Given the description of an element on the screen output the (x, y) to click on. 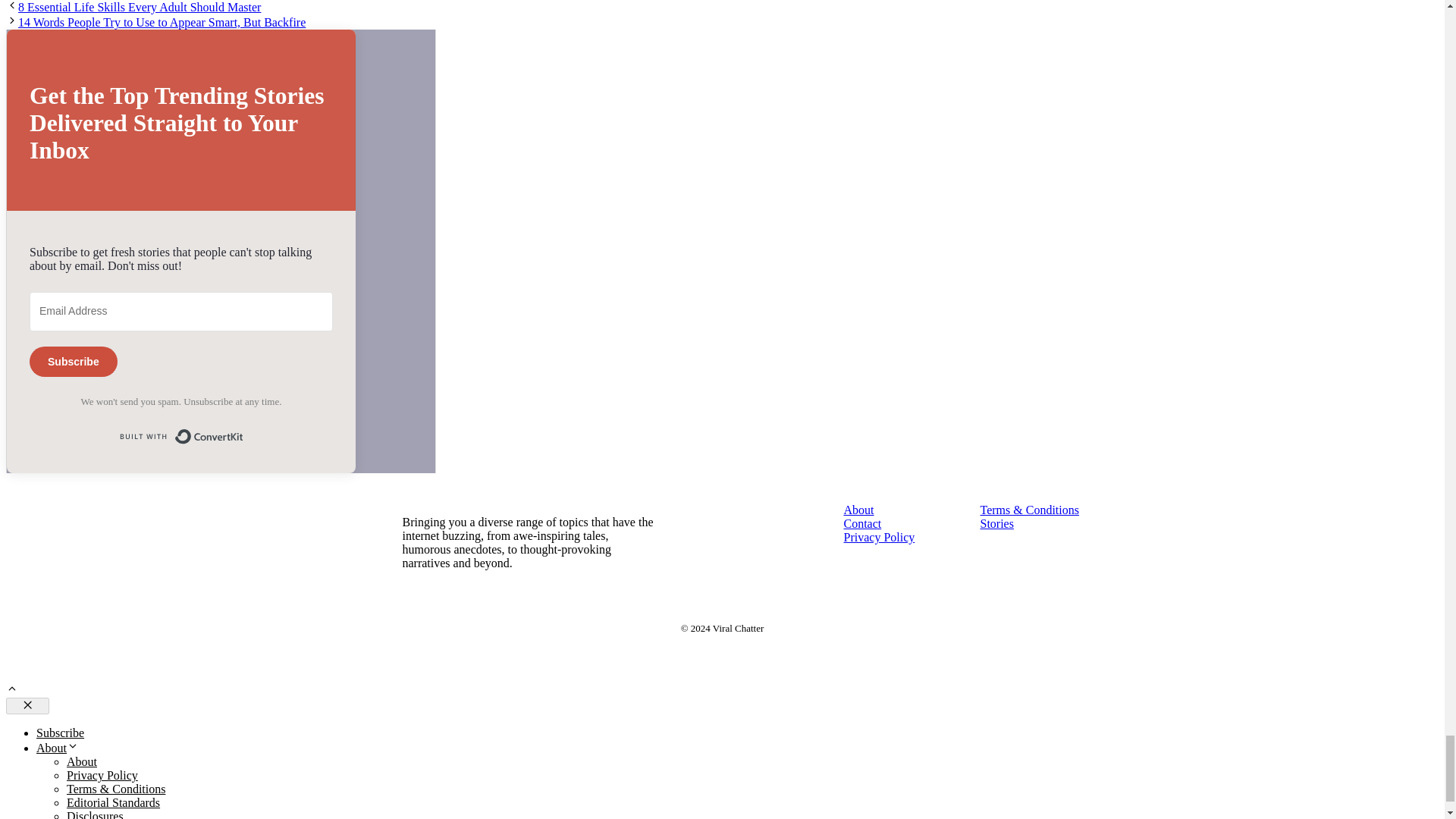
Scroll back to top (11, 689)
